Given the description of an element on the screen output the (x, y) to click on. 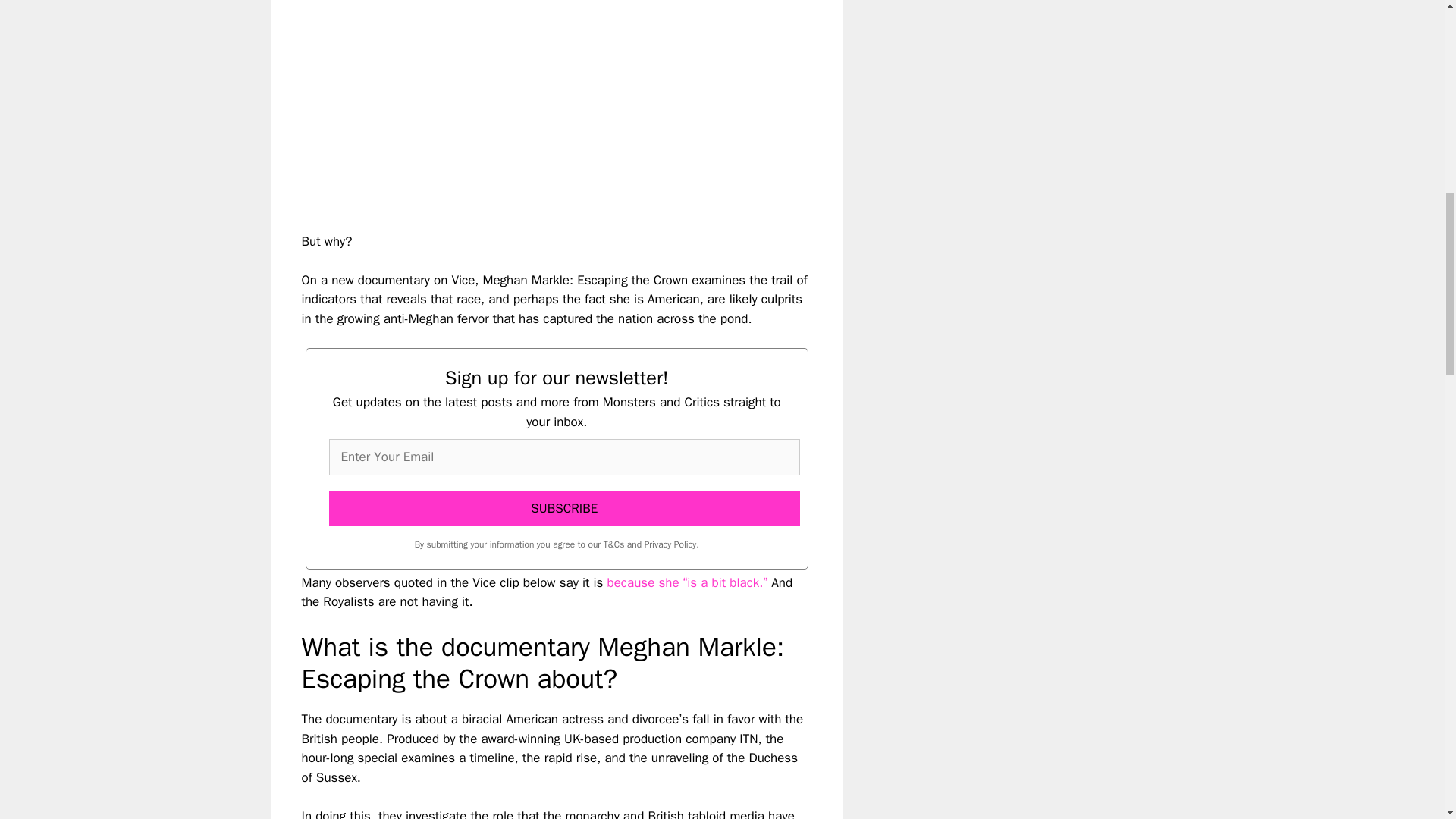
SUBSCRIBE (564, 508)
SUBSCRIBE (564, 508)
YouTube video player (513, 103)
